Given the description of an element on the screen output the (x, y) to click on. 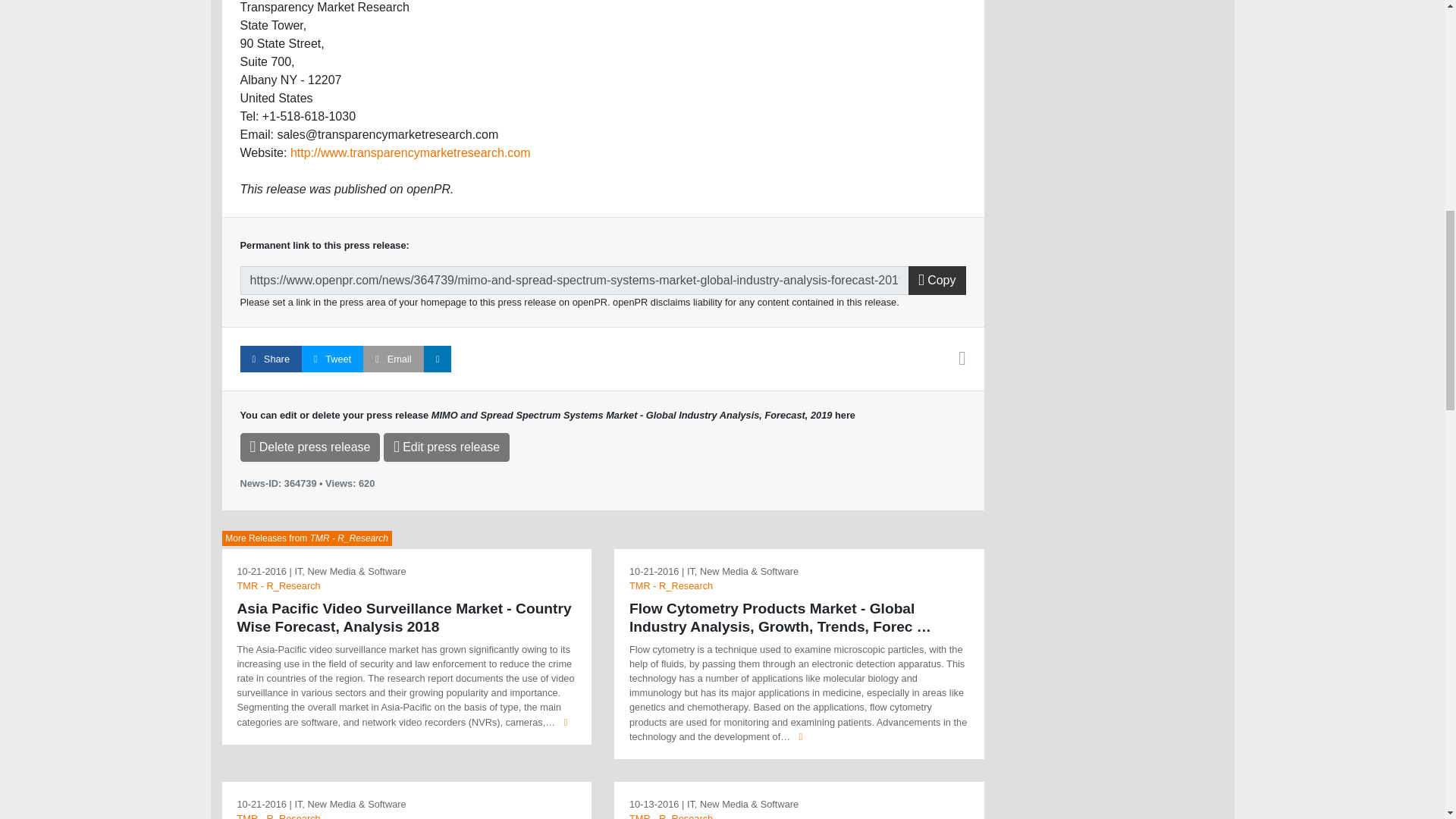
Email (392, 358)
Print (961, 360)
Facebook (270, 358)
Permalink (574, 280)
LinkedIn (437, 358)
